Given the description of an element on the screen output the (x, y) to click on. 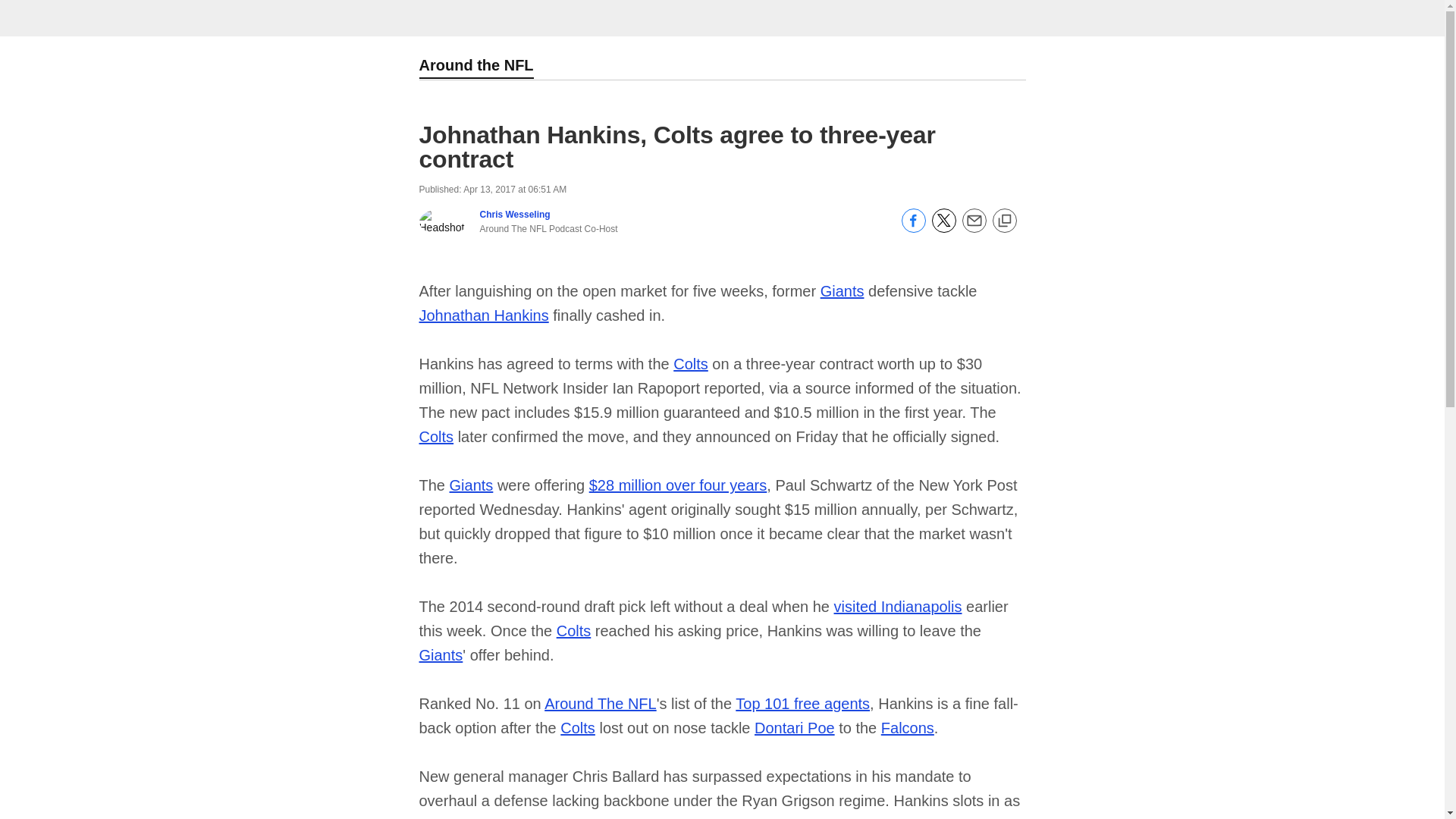
Around The NFL (600, 703)
Send email (972, 228)
Johnathan Hankins (483, 315)
Colts (573, 630)
Falcons (907, 727)
Giants (441, 655)
Dontari Poe (794, 727)
Colts (689, 363)
Colts (577, 727)
visited Indianapolis (898, 606)
